Given the description of an element on the screen output the (x, y) to click on. 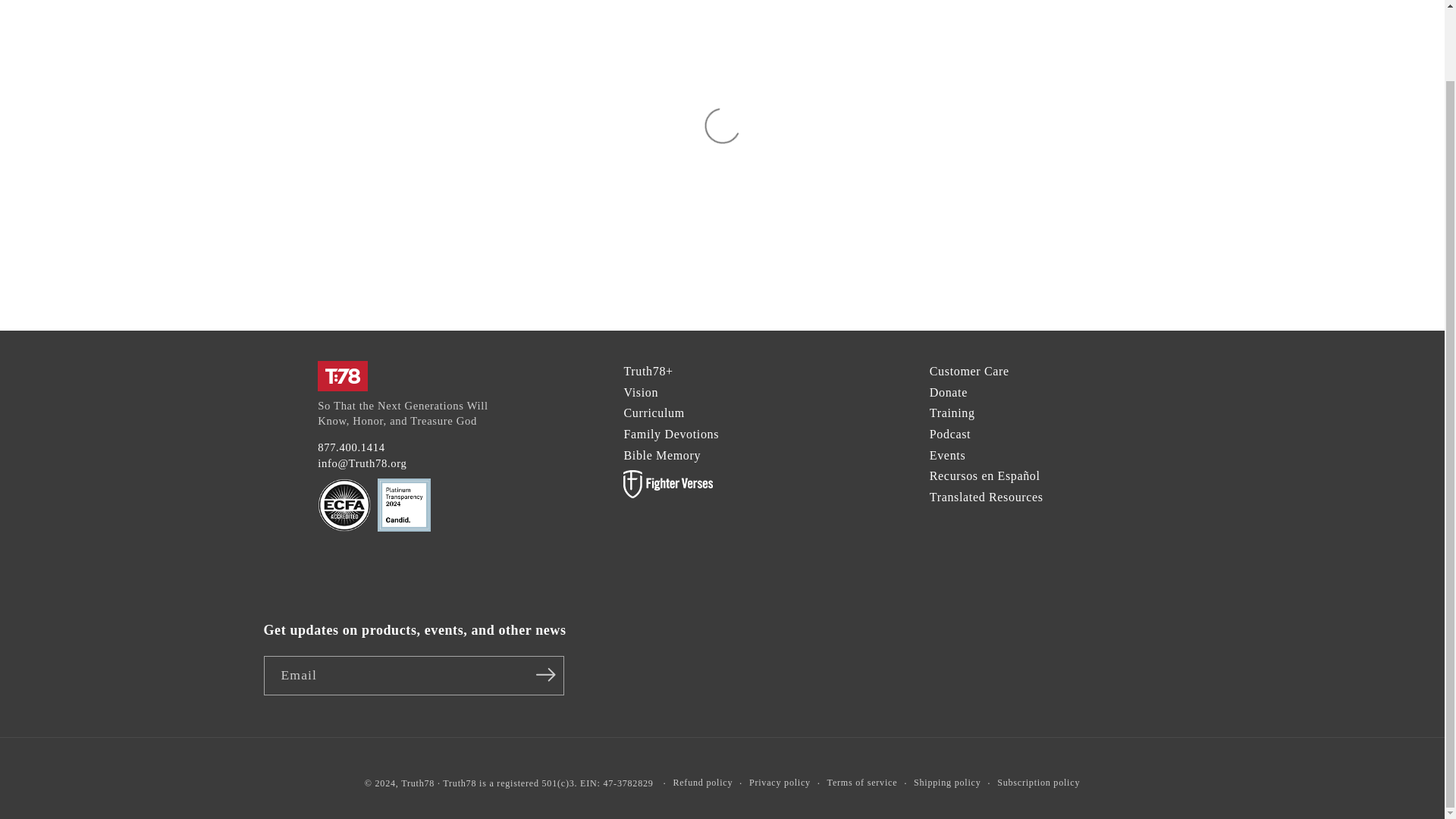
Privacy policy (779, 783)
Family Devotions (671, 433)
Translated Resources (986, 496)
Podcast (950, 433)
877.400.1414 (351, 447)
Shipping policy (946, 783)
Curriculum (653, 412)
Donate (949, 391)
Terms of service (862, 783)
Vision (640, 391)
Subscription policy (1038, 783)
Customer Care (969, 370)
Truth78 (417, 783)
Refund policy (702, 783)
Training (952, 412)
